Given the description of an element on the screen output the (x, y) to click on. 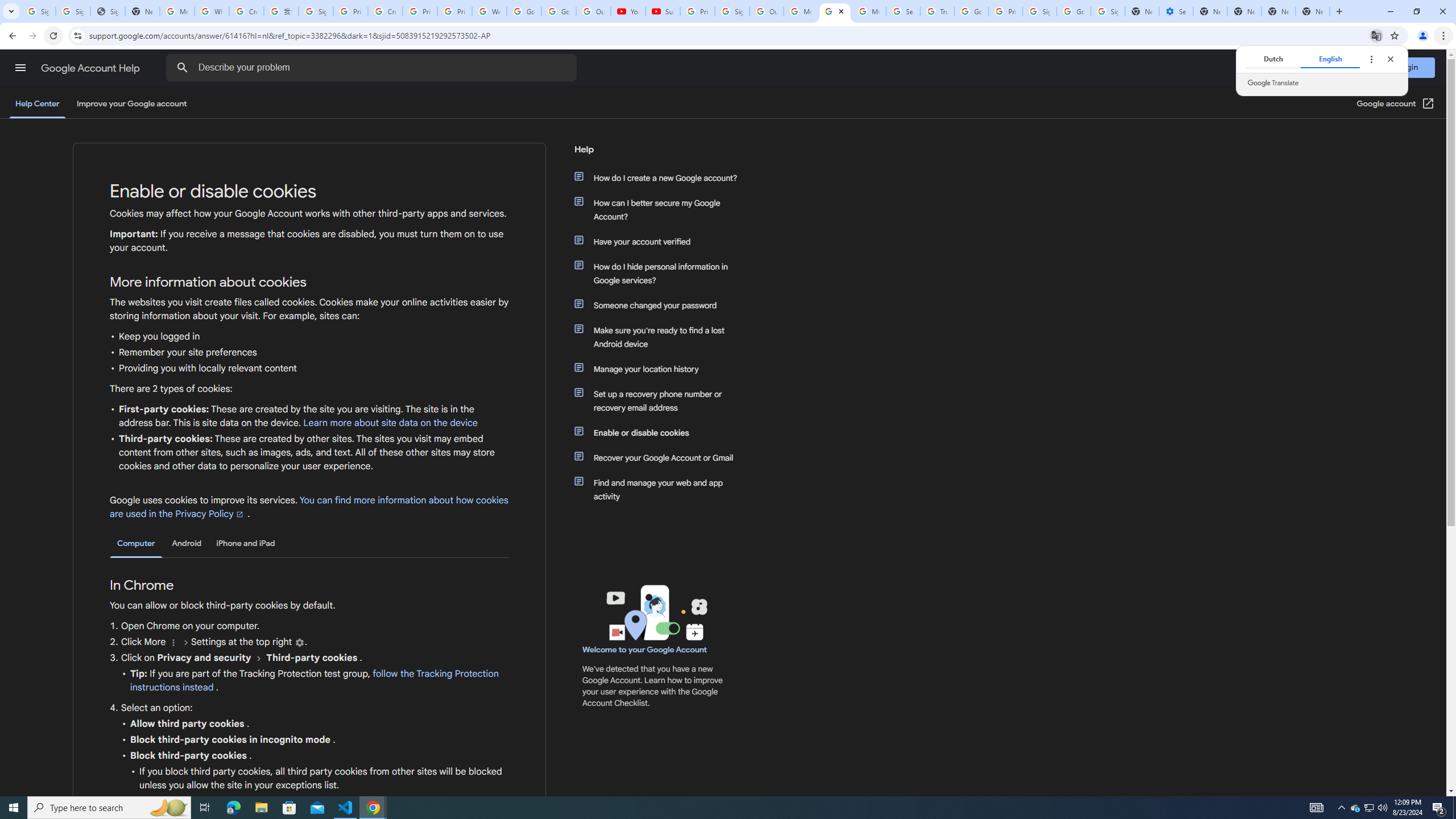
Improve your Google account (131, 103)
Translate options (1370, 58)
Who is my administrator? - Google Account Help (211, 11)
Set up a recovery phone number or recovery email address (661, 400)
Describe your problem (373, 67)
Dutch (1272, 58)
Search the Help Center (181, 67)
Learn more about site data on the device (390, 423)
Sign in - Google Accounts (1107, 11)
